Given the description of an element on the screen output the (x, y) to click on. 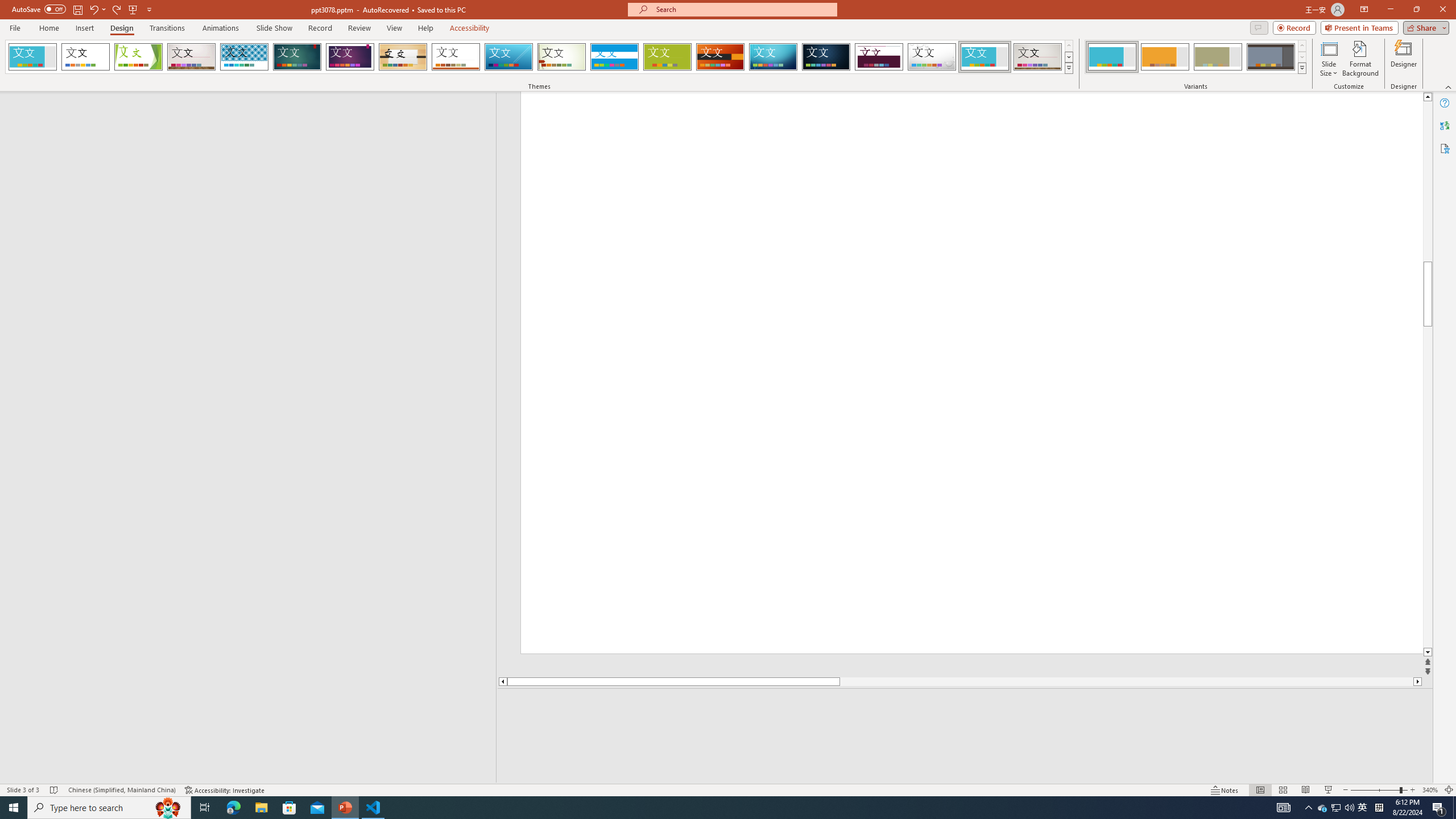
AutomationID: ThemeVariantsGallery (1195, 56)
Banded (614, 56)
Outline (252, 114)
Dividend (879, 56)
Basis (667, 56)
Frame Variant 2 (1164, 56)
